Given the description of an element on the screen output the (x, y) to click on. 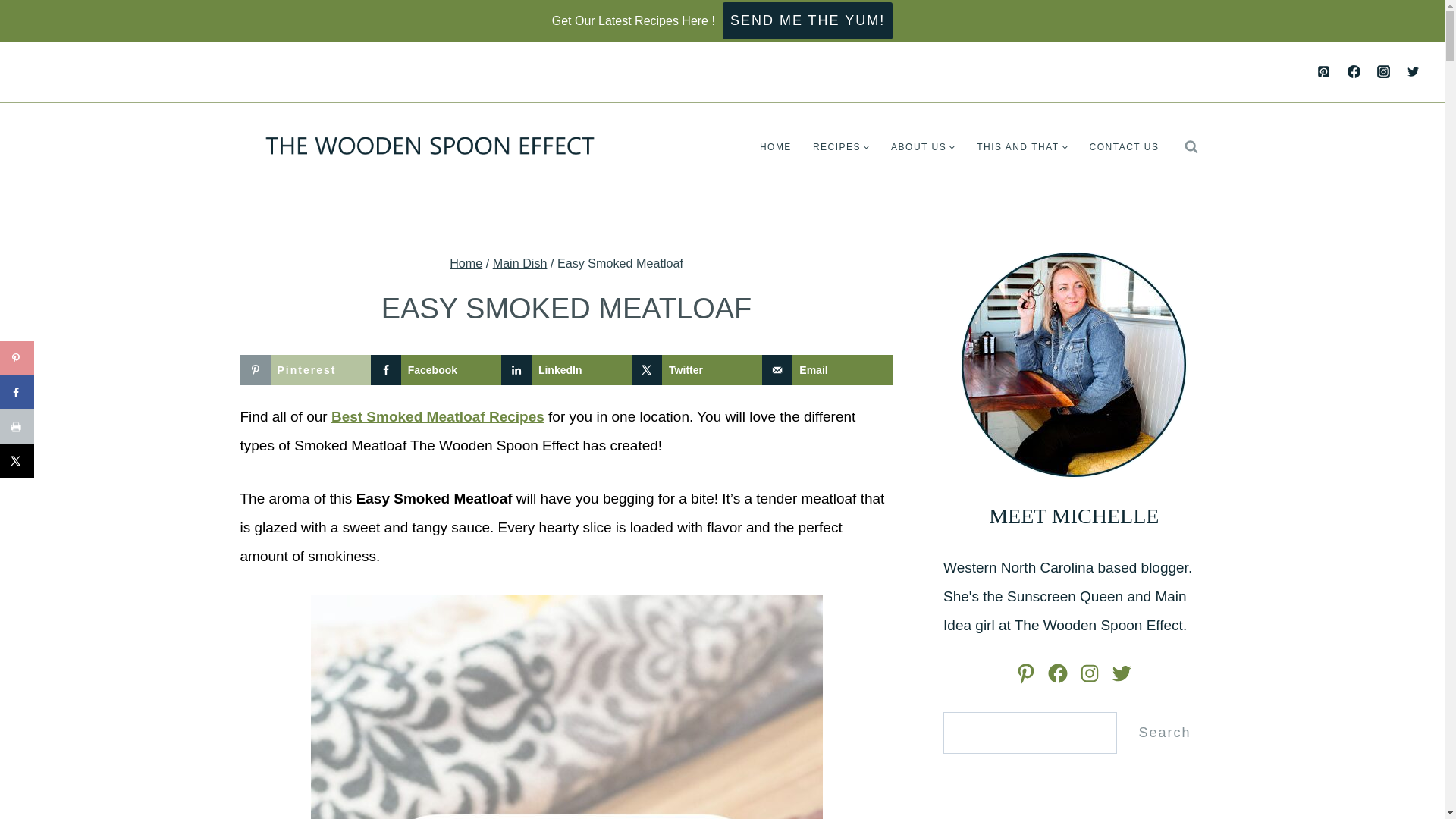
Share on X (696, 369)
Print this webpage (16, 426)
SEND ME THE YUM! (807, 20)
Save to Pinterest (304, 369)
RECIPES (841, 146)
Share on Facebook (435, 369)
HOME (775, 146)
Send over email (826, 369)
Save to Pinterest (16, 358)
Share on X (16, 460)
Share on LinkedIn (565, 369)
Share on Facebook (16, 392)
